Given the description of an element on the screen output the (x, y) to click on. 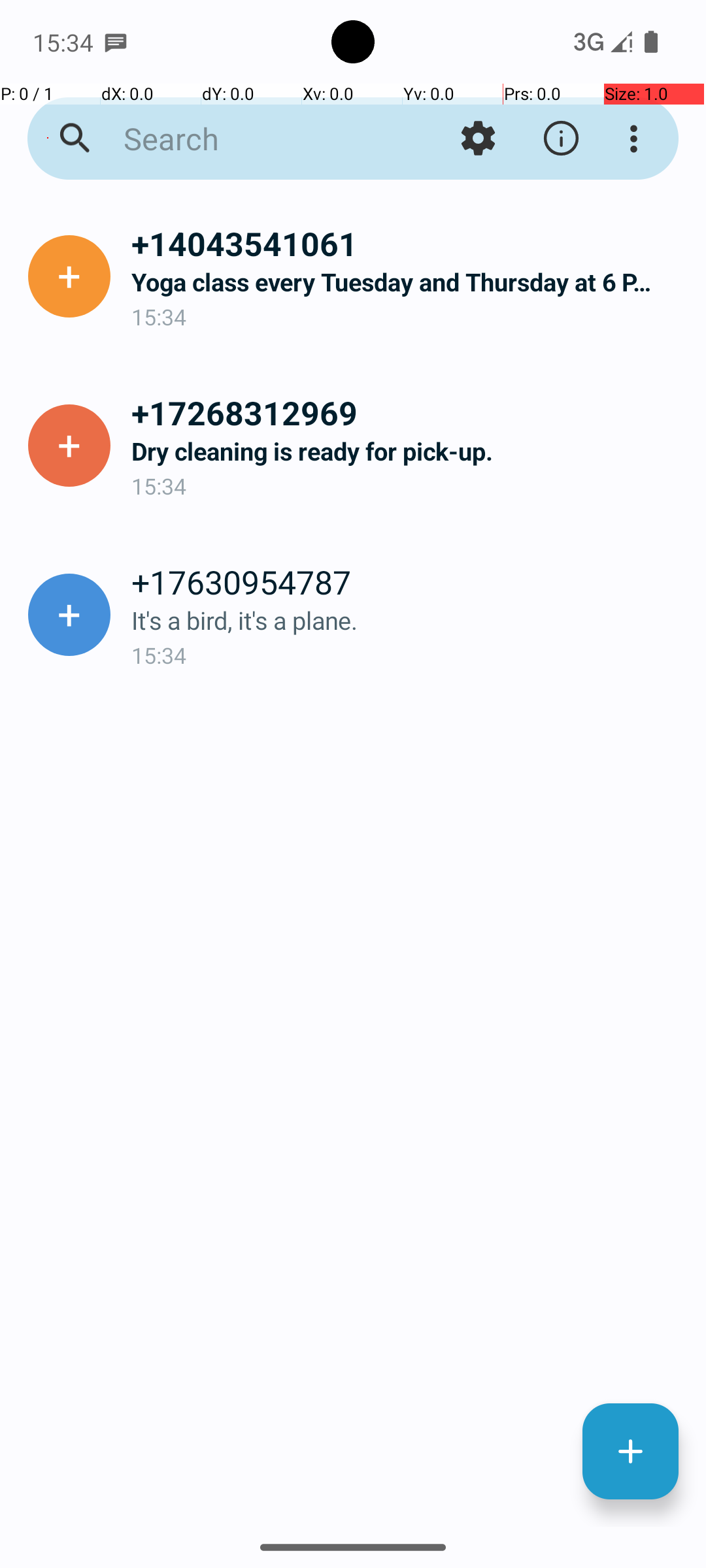
+14043541061 Element type: android.widget.TextView (408, 242)
Yoga class every Tuesday and Thursday at 6 PM. Element type: android.widget.TextView (408, 281)
+17268312969 Element type: android.widget.TextView (408, 412)
Dry cleaning is ready for pick-up. Element type: android.widget.TextView (408, 450)
+17630954787 Element type: android.widget.TextView (408, 581)
It's a bird, it's a plane. Element type: android.widget.TextView (408, 620)
